Given the description of an element on the screen output the (x, y) to click on. 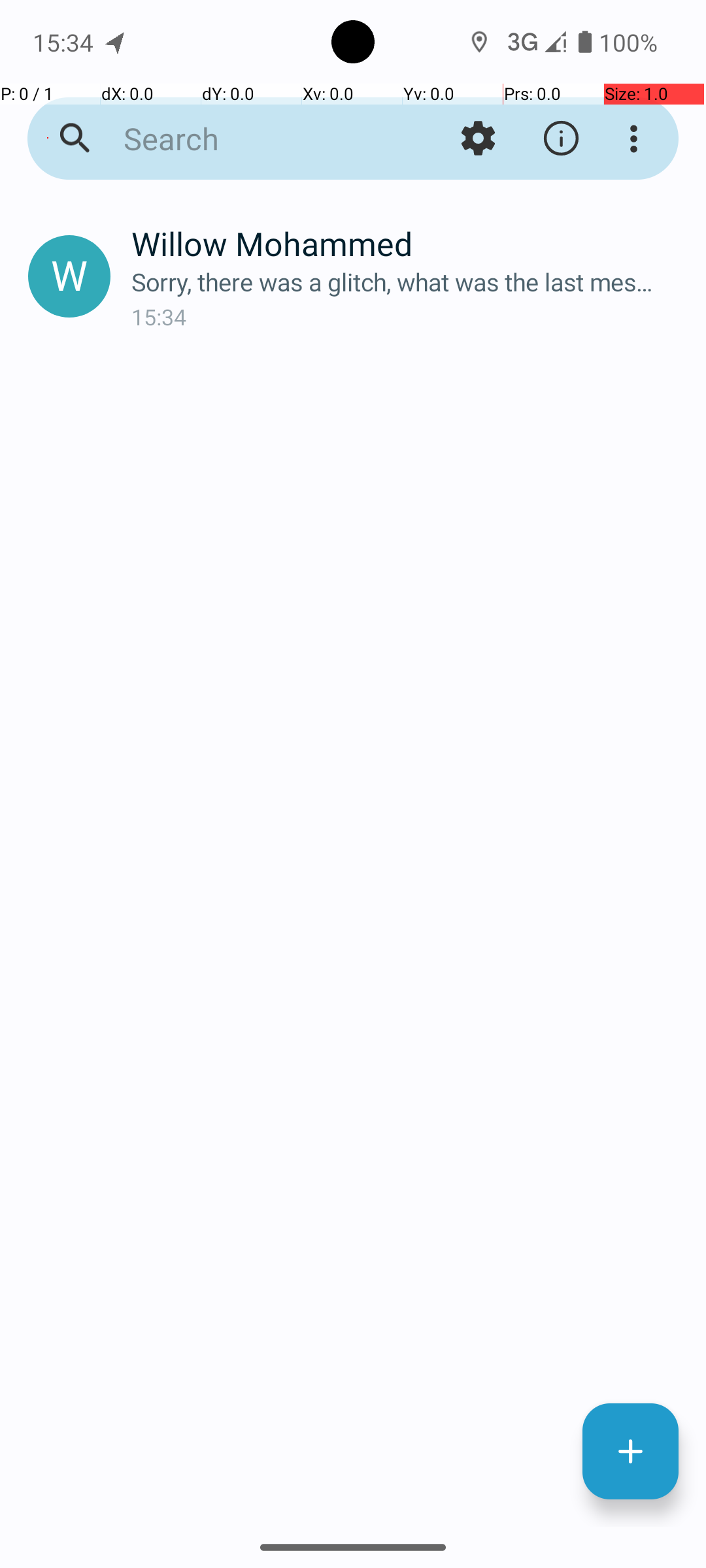
Willow Mohammed Element type: android.widget.TextView (408, 242)
Sorry, there was a glitch, what was the last message you sent me? Element type: android.widget.TextView (408, 281)
